Given the description of an element on the screen output the (x, y) to click on. 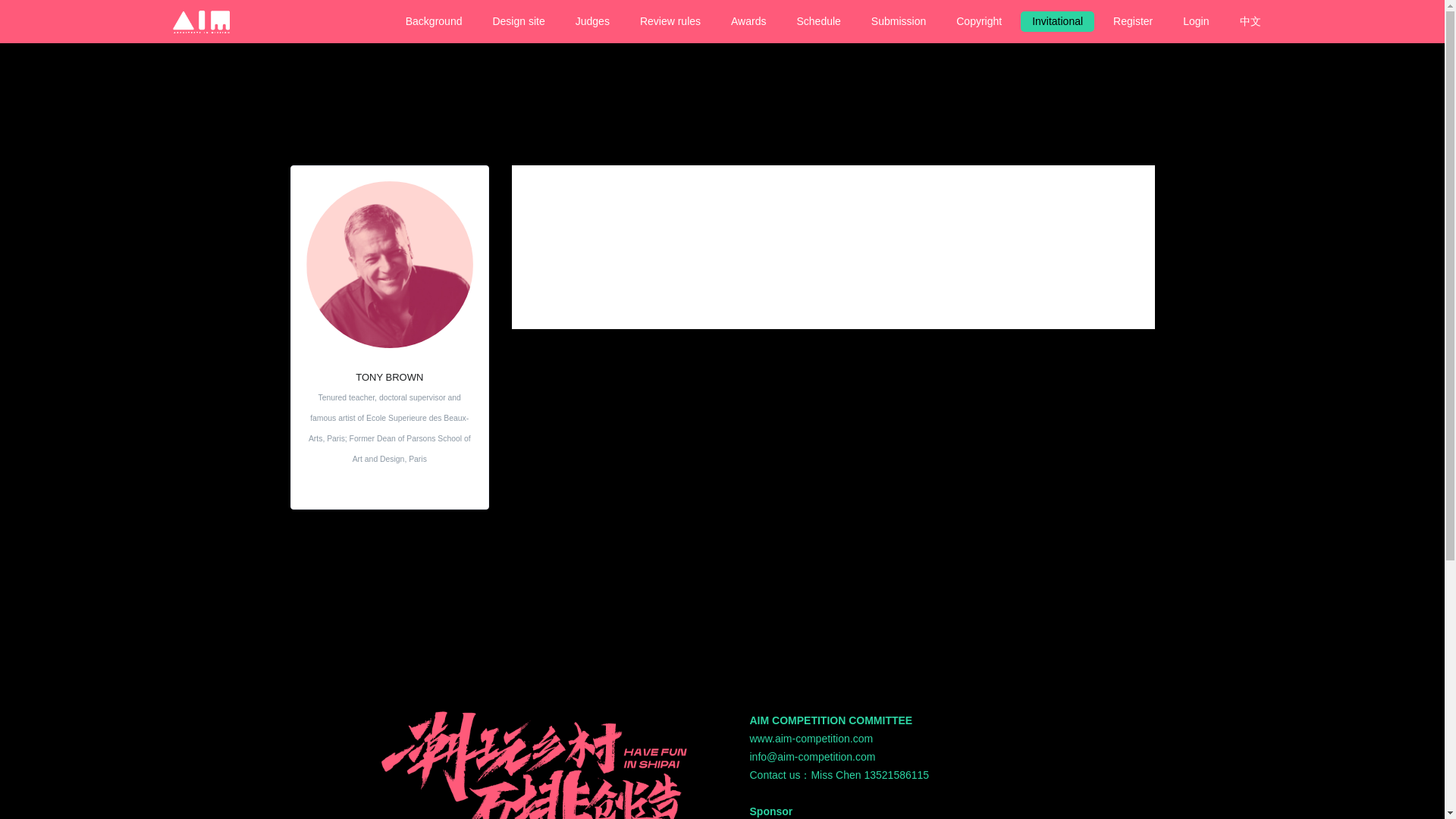
Review rules (669, 21)
Judges (592, 21)
Awards (748, 21)
Schedule (817, 21)
Judges (592, 21)
Background (434, 21)
Design site (518, 21)
Copyright (978, 21)
Review rules (669, 21)
Register (1132, 21)
Awards (748, 21)
Schedule (817, 21)
Invitational (1057, 21)
Register (1132, 21)
Design site (518, 21)
